Given the description of an element on the screen output the (x, y) to click on. 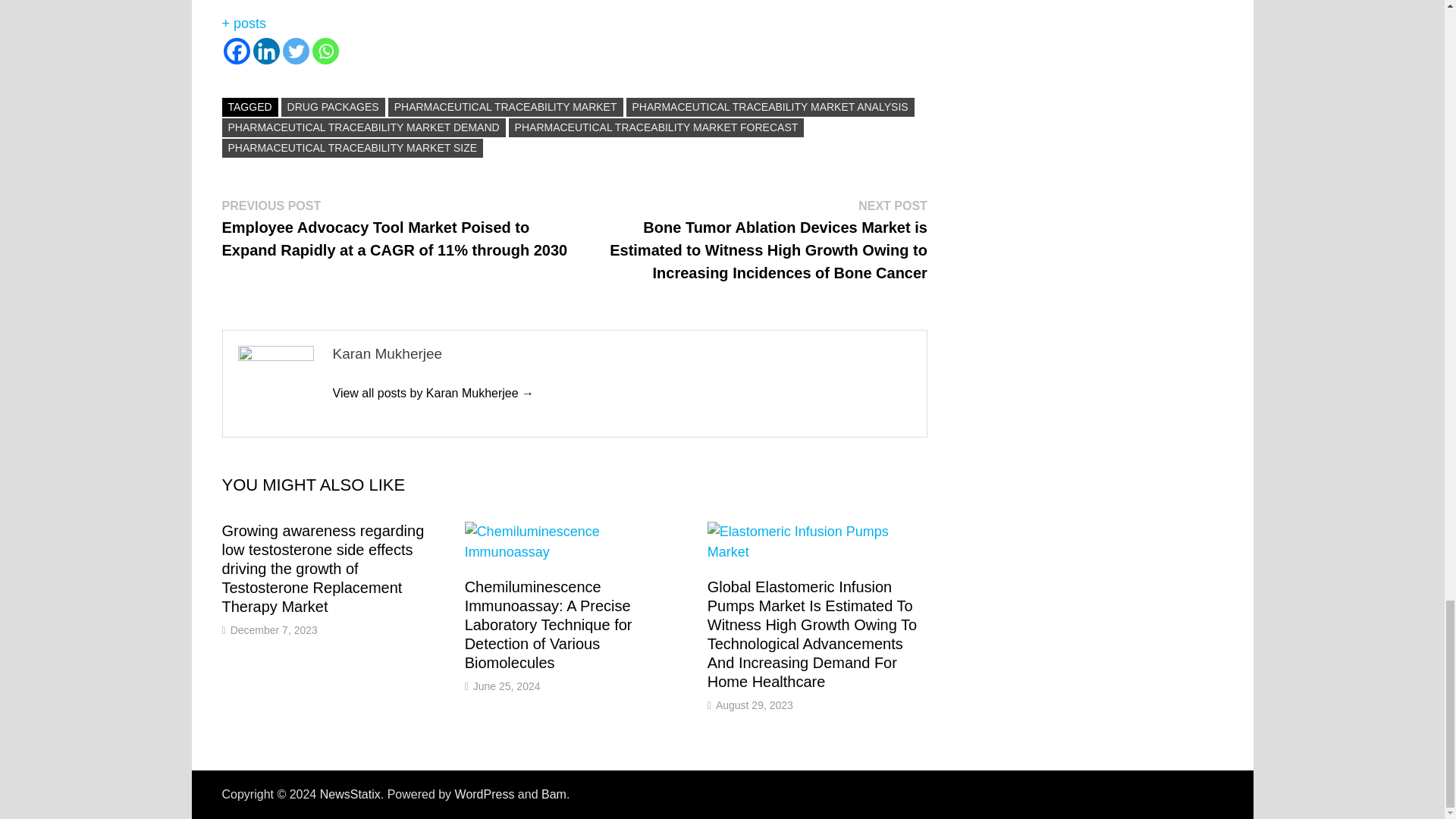
Twitter (295, 50)
Whatsapp (326, 50)
NewsStatix (350, 793)
Linkedin (266, 50)
Facebook (235, 50)
Karan Mukherjee (432, 392)
